Given the description of an element on the screen output the (x, y) to click on. 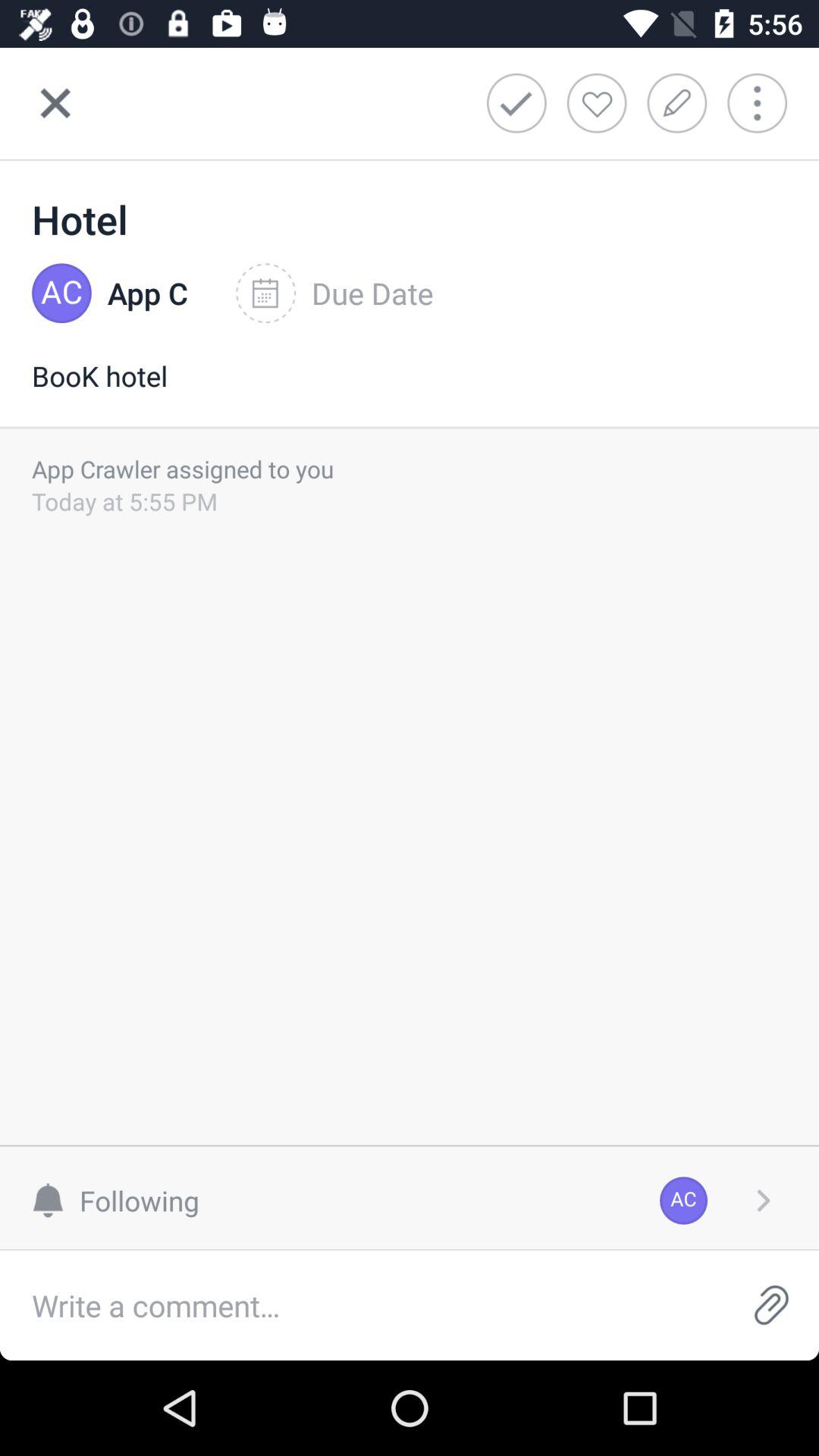
go to next page (763, 1200)
